Given the description of an element on the screen output the (x, y) to click on. 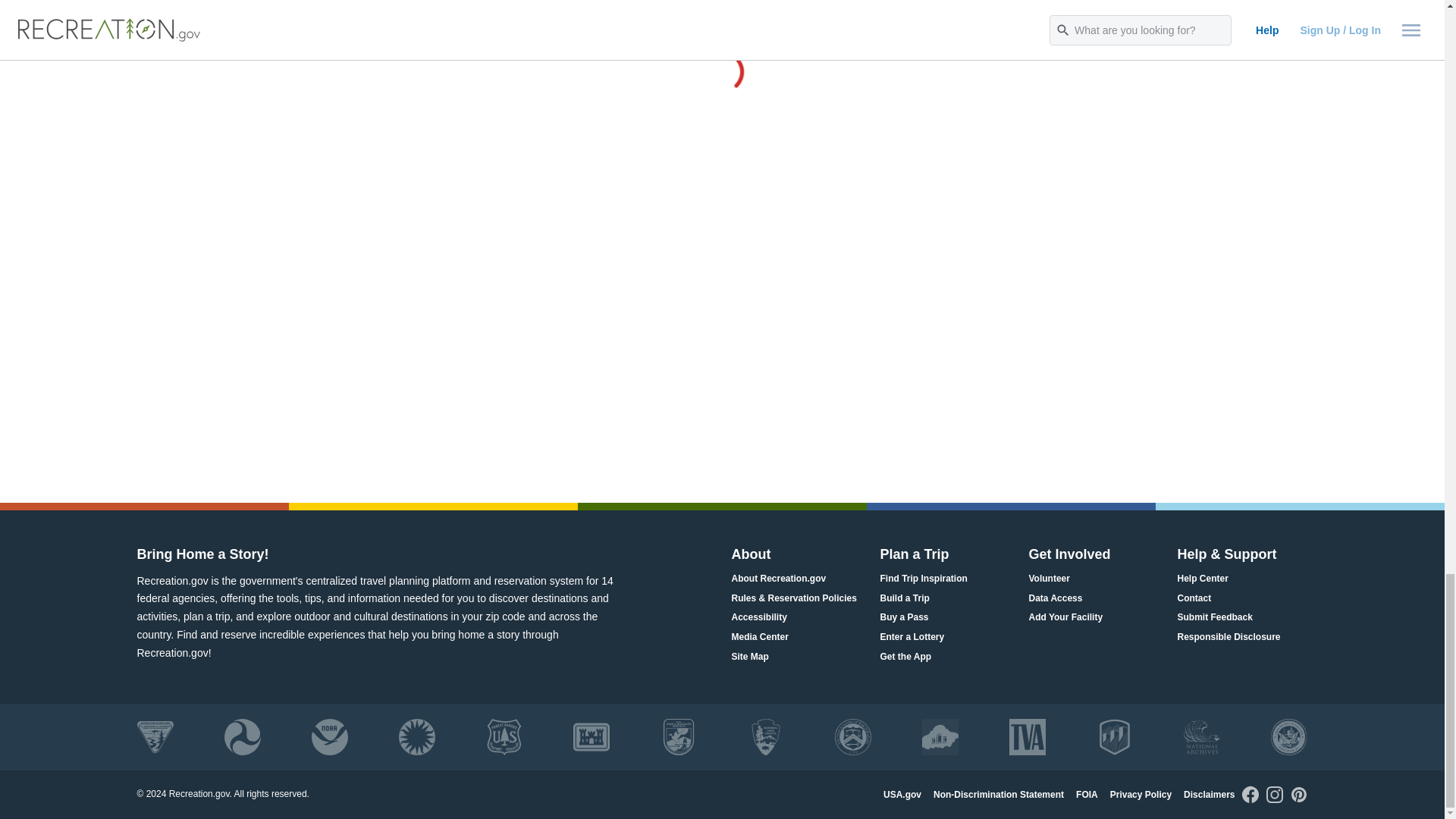
About Recreation.gov (777, 578)
Find Trip Inspiration (922, 578)
Site Map (749, 656)
Buy a Pass (903, 616)
Enter a Lottery (911, 636)
Volunteer (1047, 578)
Build a Trip (903, 598)
Add Your Facility (1064, 616)
Accessibility (758, 616)
Media Center (758, 636)
Help Center (1201, 578)
Data Access (1054, 598)
Get the App (905, 656)
